Given the description of an element on the screen output the (x, y) to click on. 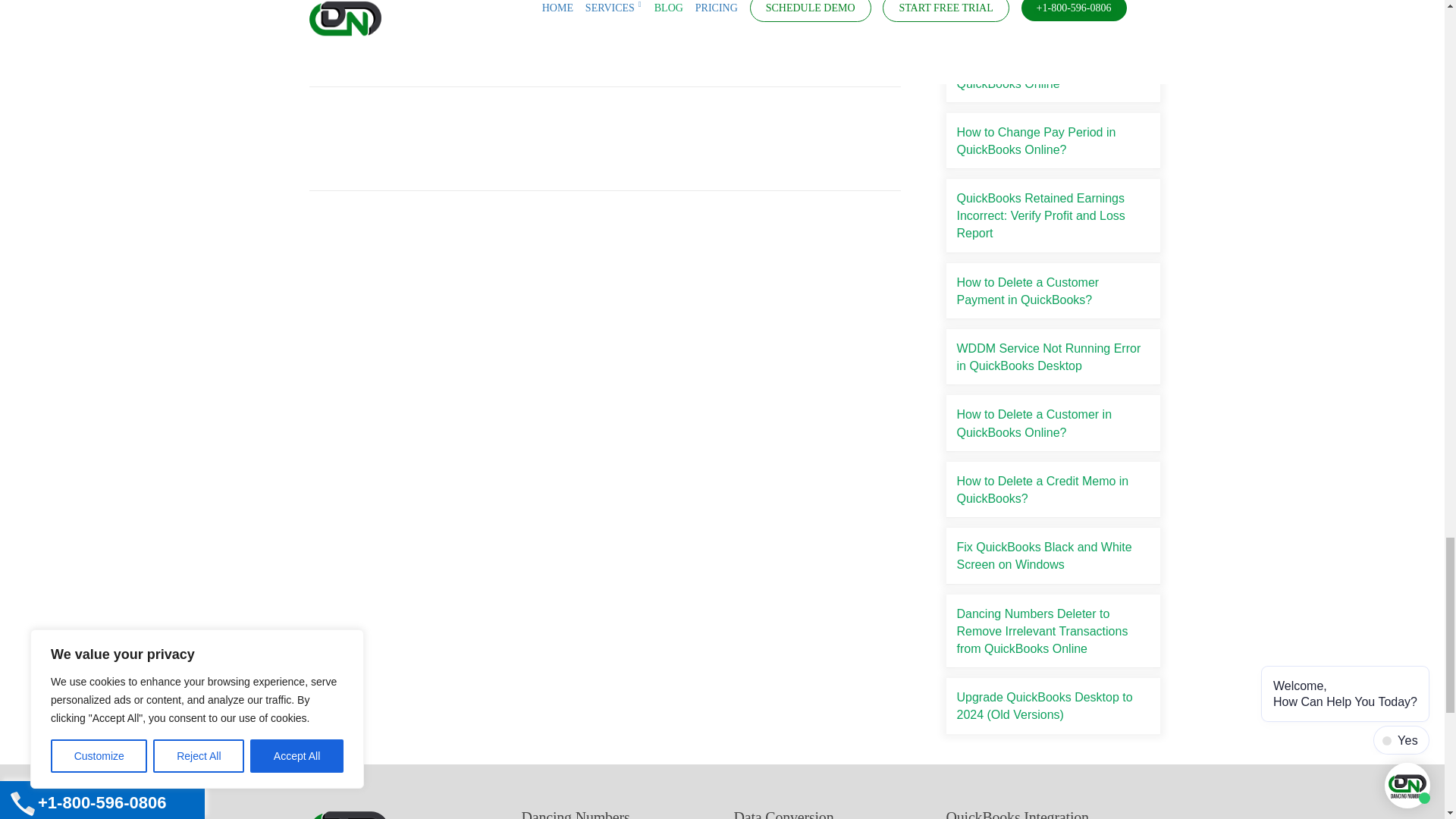
Dancing Numbers (352, 814)
